Given the description of an element on the screen output the (x, y) to click on. 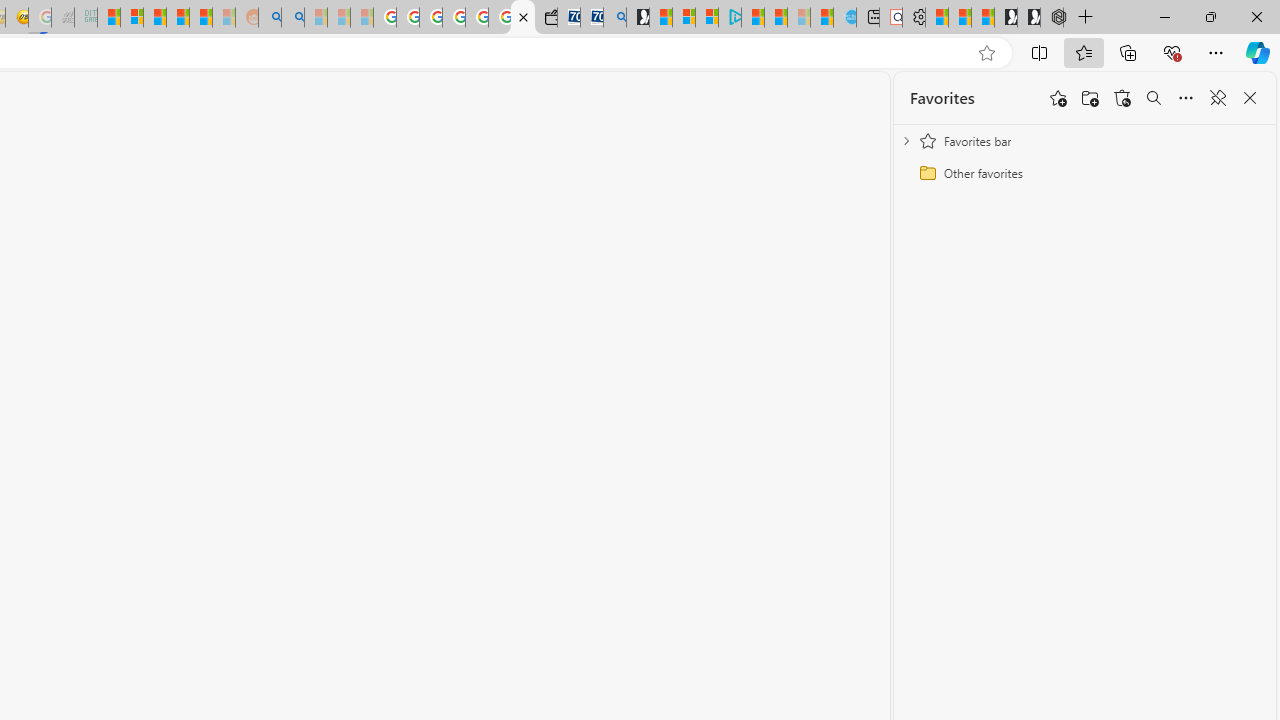
Wallet (545, 17)
Close favorites (1250, 98)
Search favorites (1153, 98)
Add folder (1089, 98)
Restore deleted favorites (1122, 98)
